Given the description of an element on the screen output the (x, y) to click on. 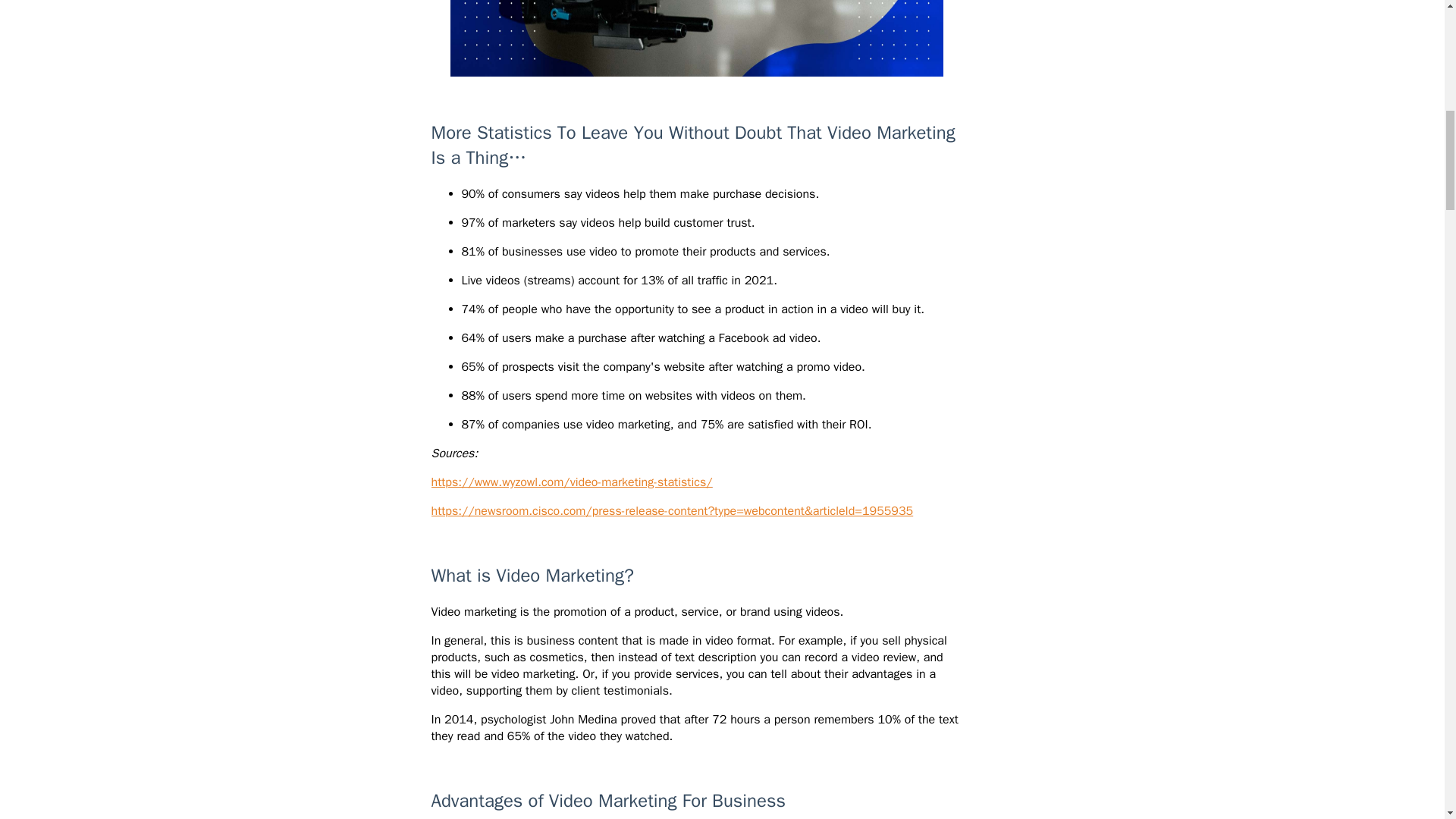
video (696, 38)
